Given the description of an element on the screen output the (x, y) to click on. 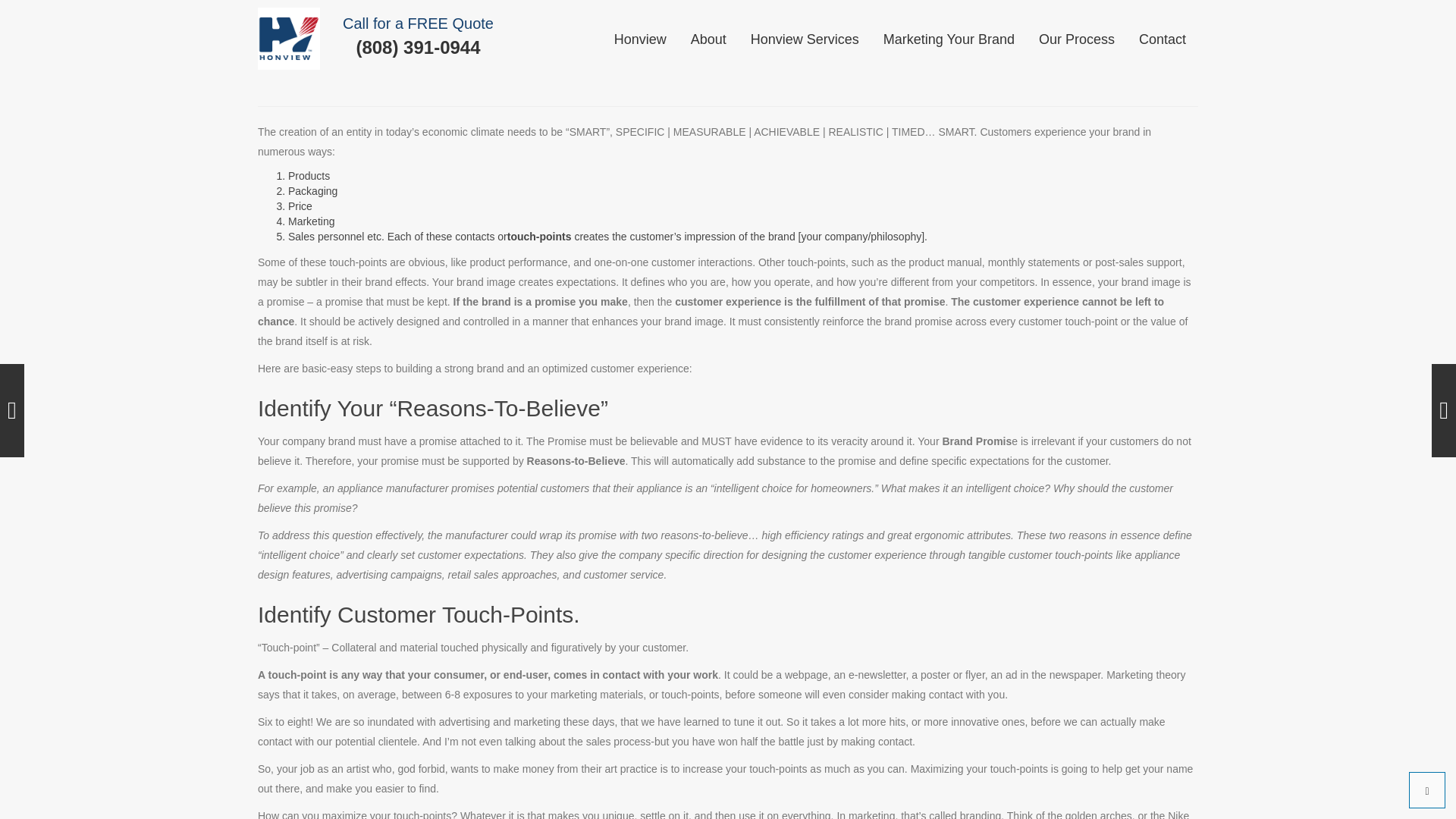
Our Process (1077, 39)
Contact (1162, 39)
Marketing Your Brand (948, 39)
Honview Services (805, 39)
About (708, 39)
Honview (640, 39)
